Given the description of an element on the screen output the (x, y) to click on. 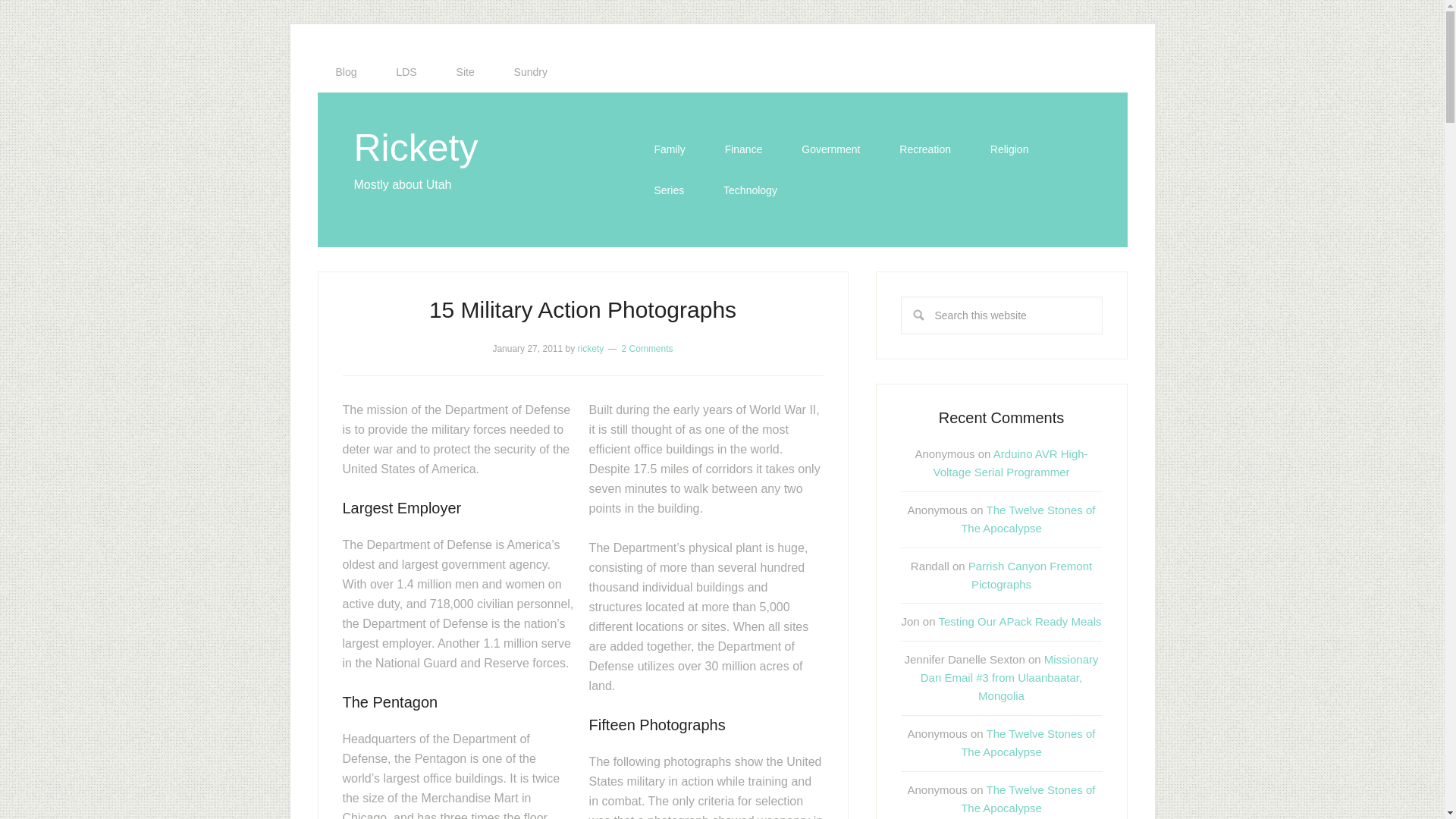
Sundry (531, 71)
Details about this blog (465, 71)
Site (465, 71)
Blog (345, 71)
Family (668, 148)
Membership statistics and other stuff (405, 71)
View as a conventional blog (345, 71)
Rickety (415, 147)
